Given the description of an element on the screen output the (x, y) to click on. 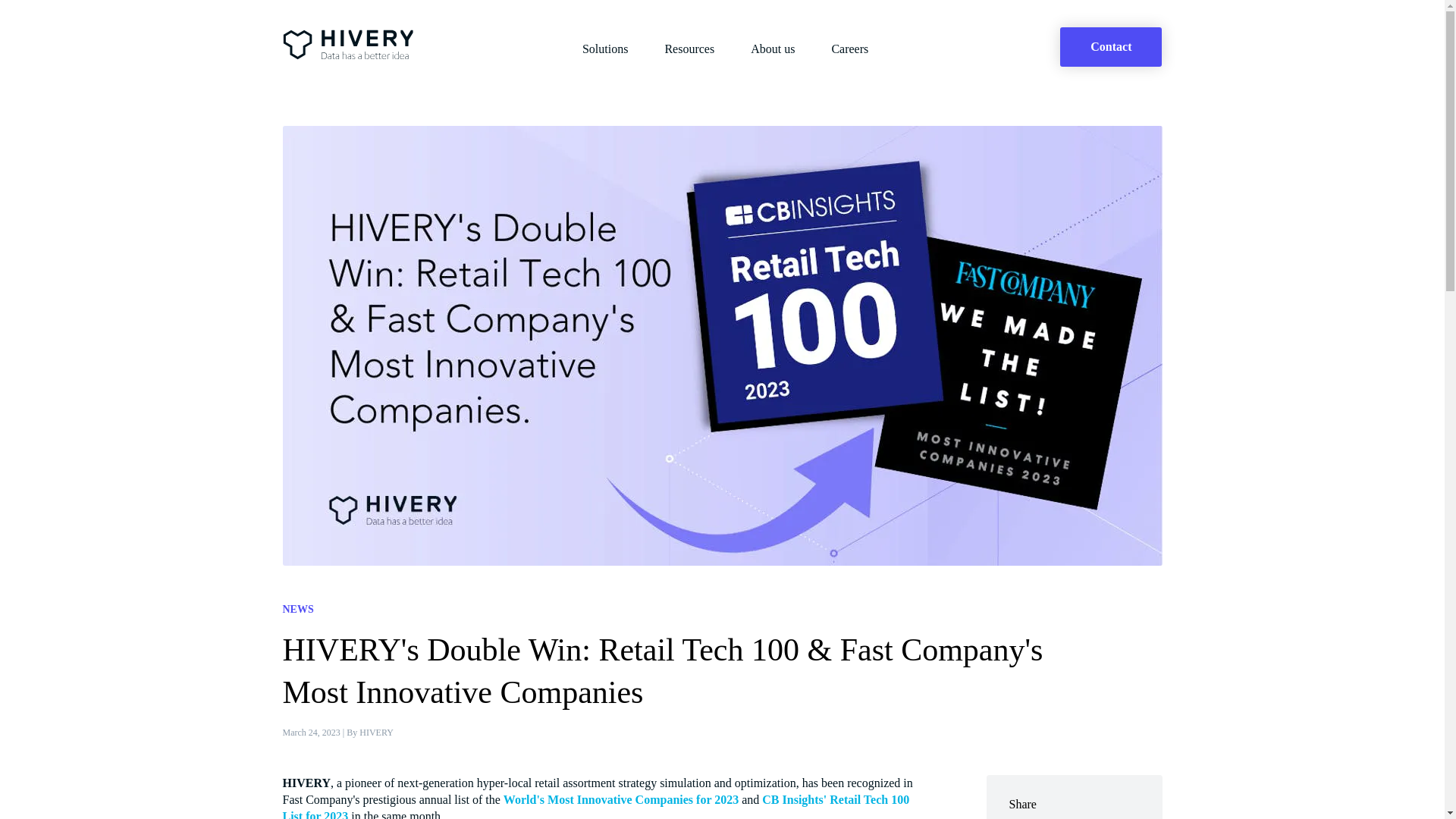
CB Insights' Retail Tech 100 List for 2023 (595, 806)
Careers (849, 48)
Resources (688, 48)
Solutions (604, 48)
World's Most Innovative Companies for 2023 (620, 799)
Contact (1110, 46)
About us (772, 48)
